Given the description of an element on the screen output the (x, y) to click on. 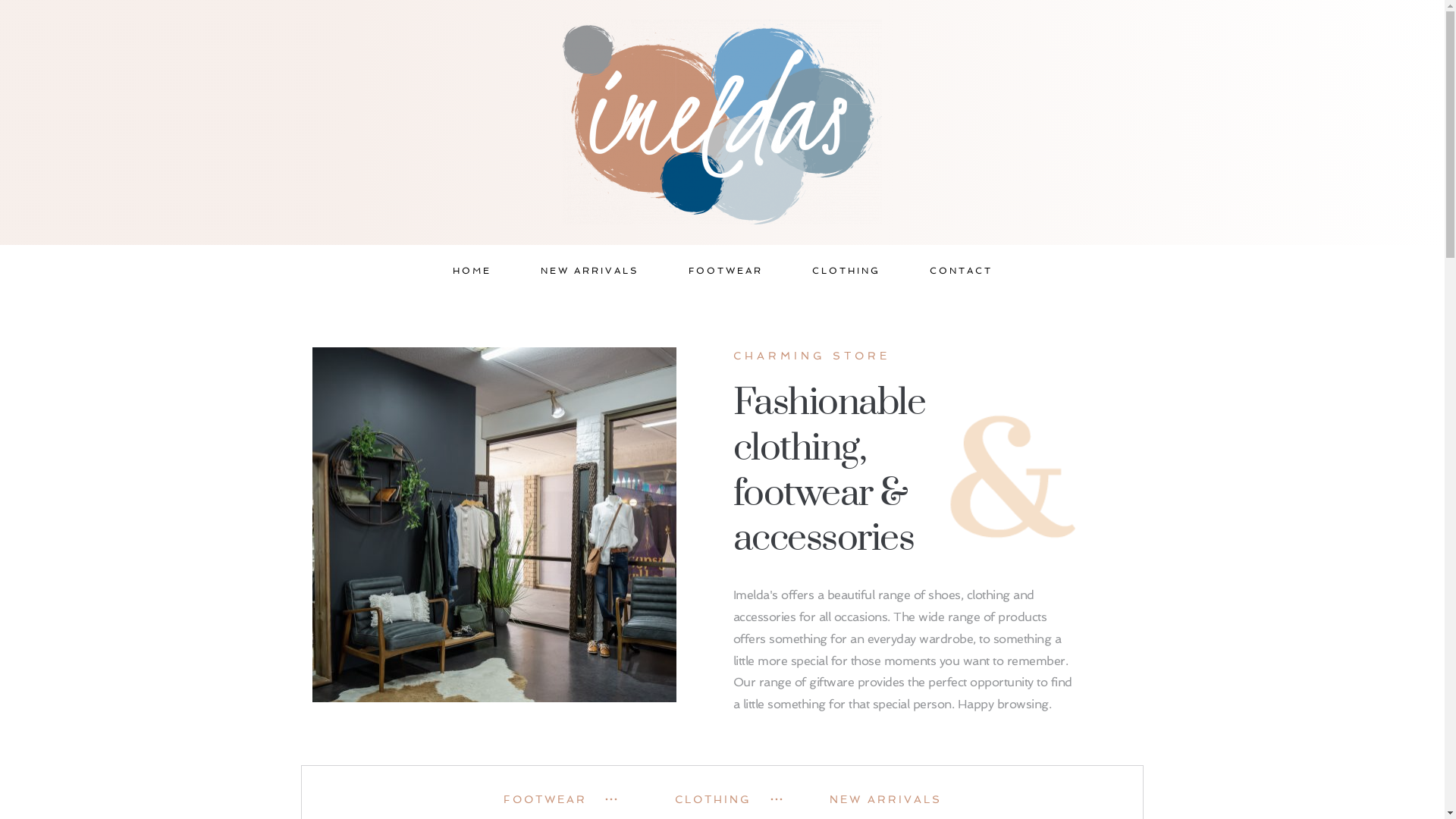
FOOTWEAR Element type: text (724, 270)
NEW ARRIVALS Element type: text (589, 270)
CLOTHING Element type: text (846, 270)
  CLOTHING Element type: text (723, 799)
FOOTWEAR Element type: text (560, 799)
NEW ARRIVALS Element type: text (885, 799)
CONTACT Element type: text (960, 270)
HOME Element type: text (471, 270)
